Given the description of an element on the screen output the (x, y) to click on. 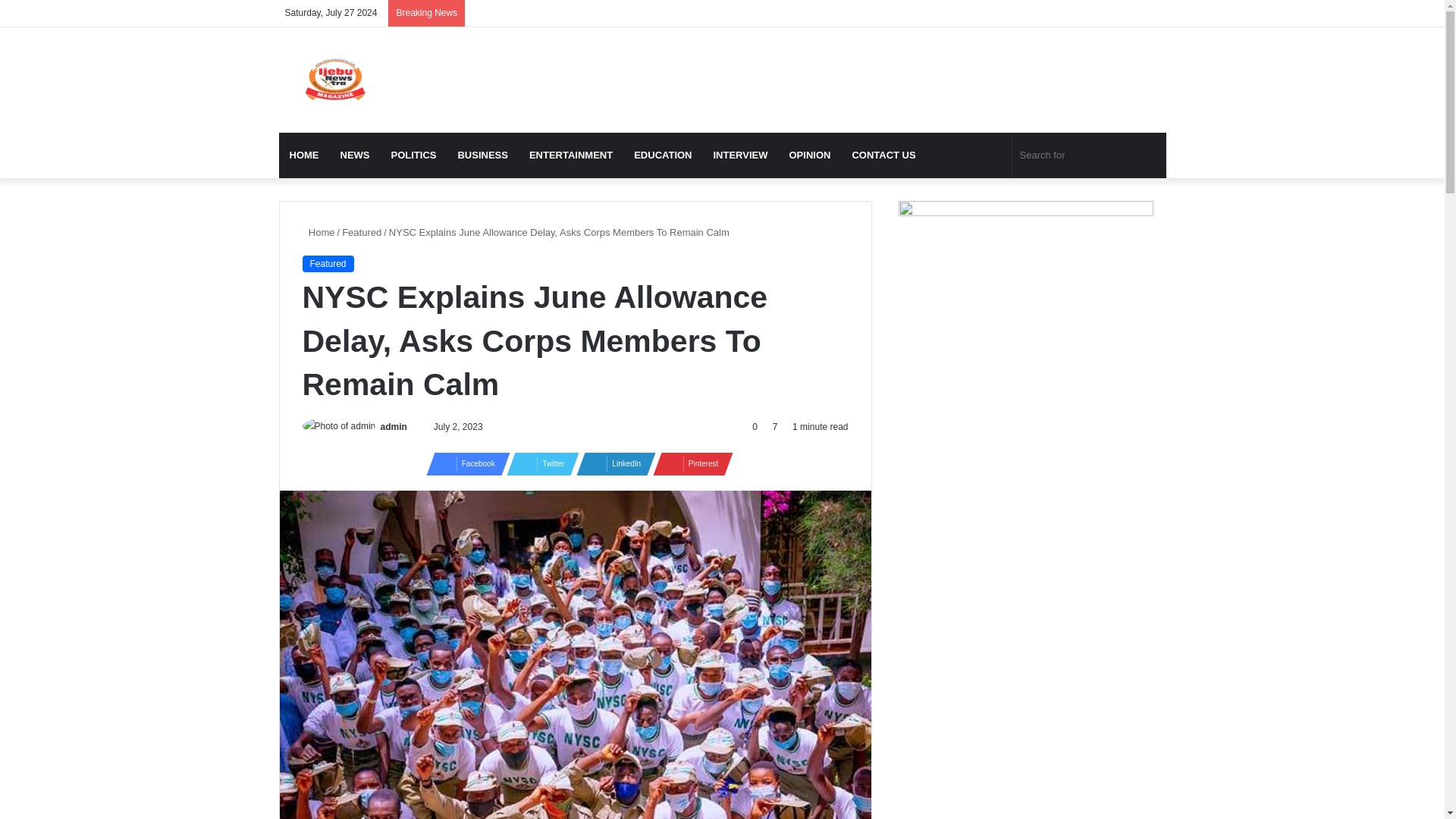
Facebook (463, 463)
Facebook (463, 463)
admin (393, 426)
LinkedIn (611, 463)
HOME (304, 155)
Featured (361, 232)
CONTACT US (883, 155)
POLITICS (413, 155)
NEWS (354, 155)
EDUCATION (662, 155)
Search for (1088, 155)
Twitter (538, 463)
INTERVIEW (739, 155)
Twitter (538, 463)
ENTERTAINMENT (570, 155)
